Given the description of an element on the screen output the (x, y) to click on. 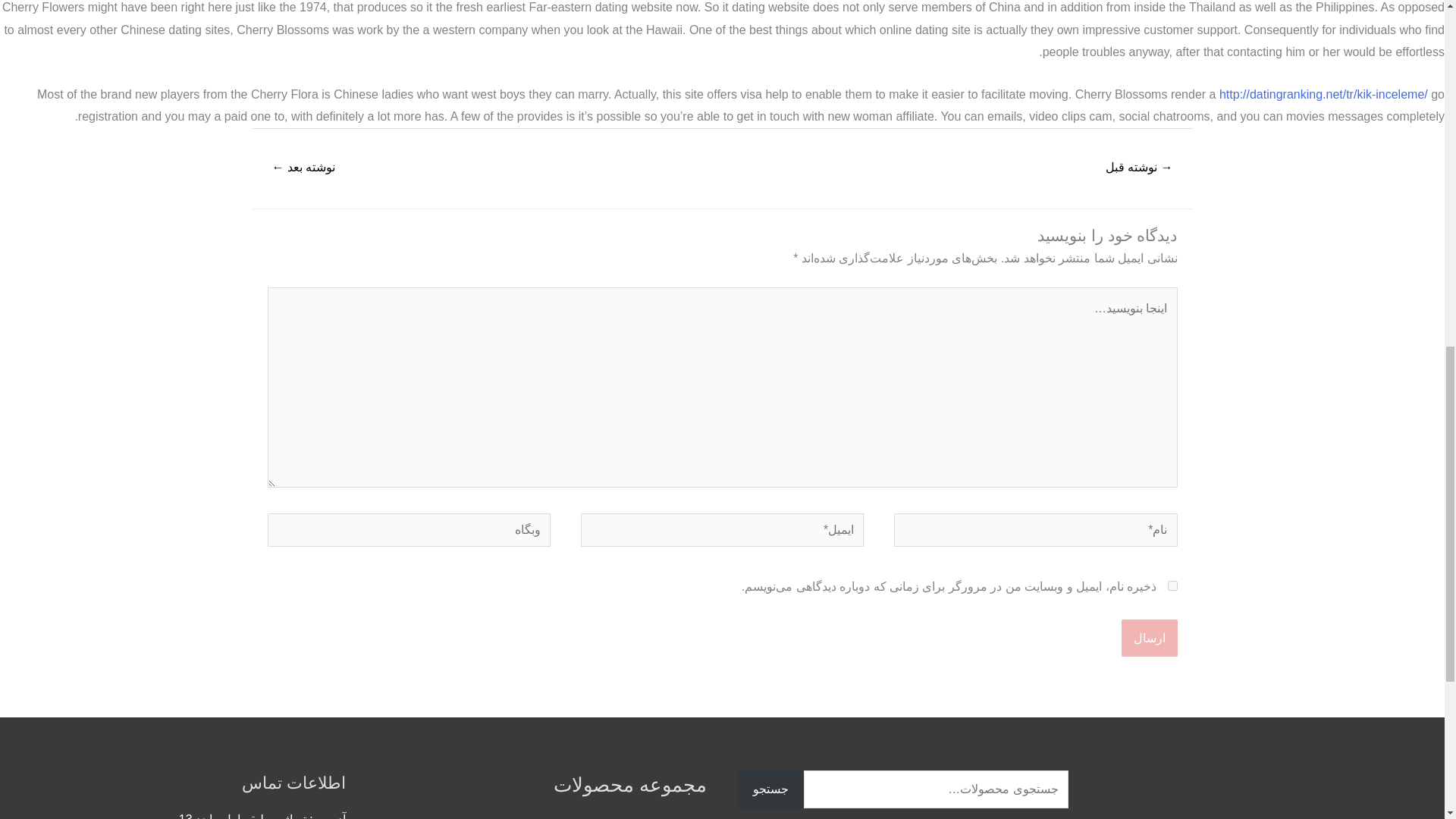
Clairette From Saitama, Japan Trying To Find Man (1139, 168)
yes (1172, 585)
